Given the description of an element on the screen output the (x, y) to click on. 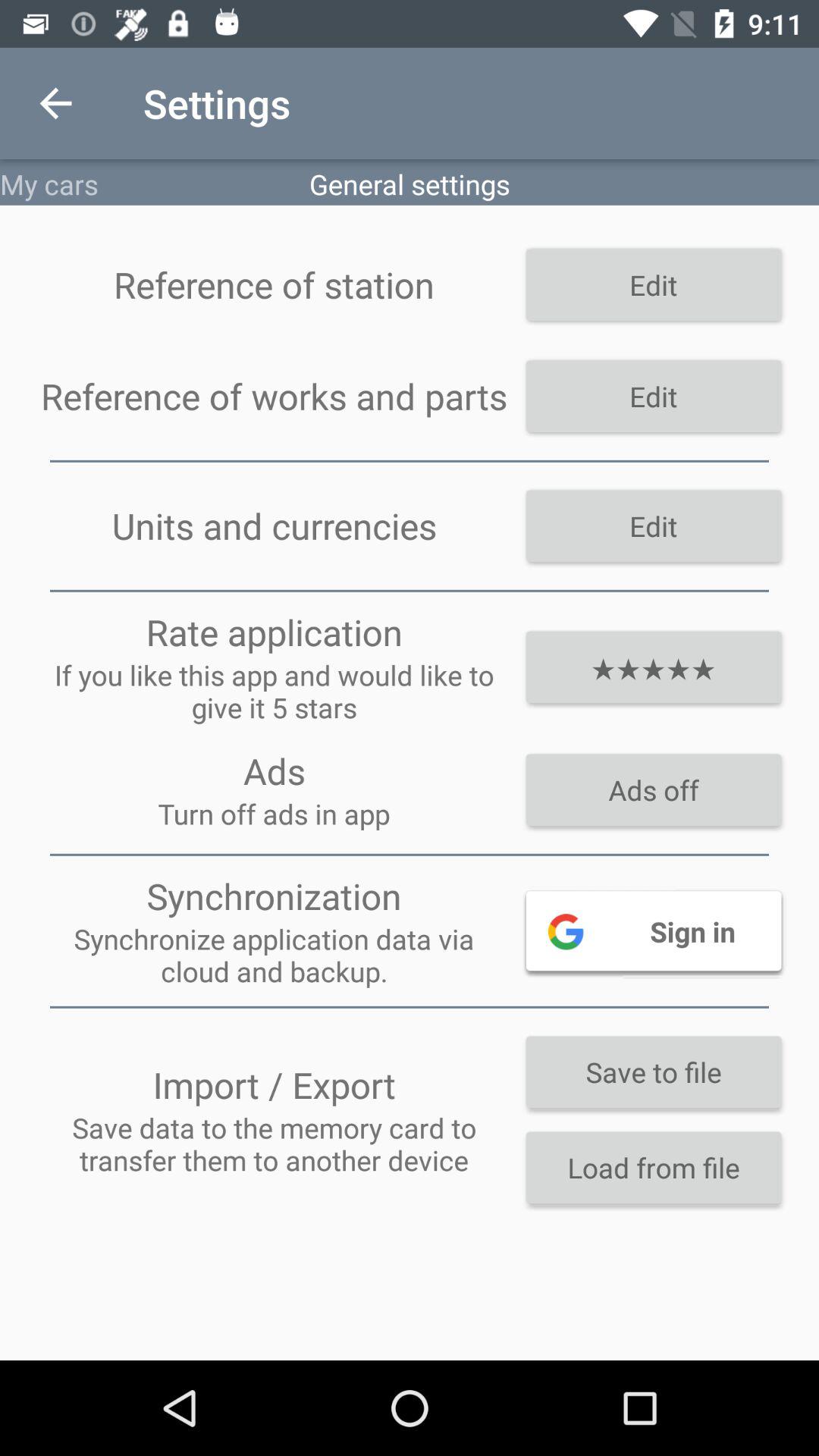
open the item above ads off (653, 666)
